Given the description of an element on the screen output the (x, y) to click on. 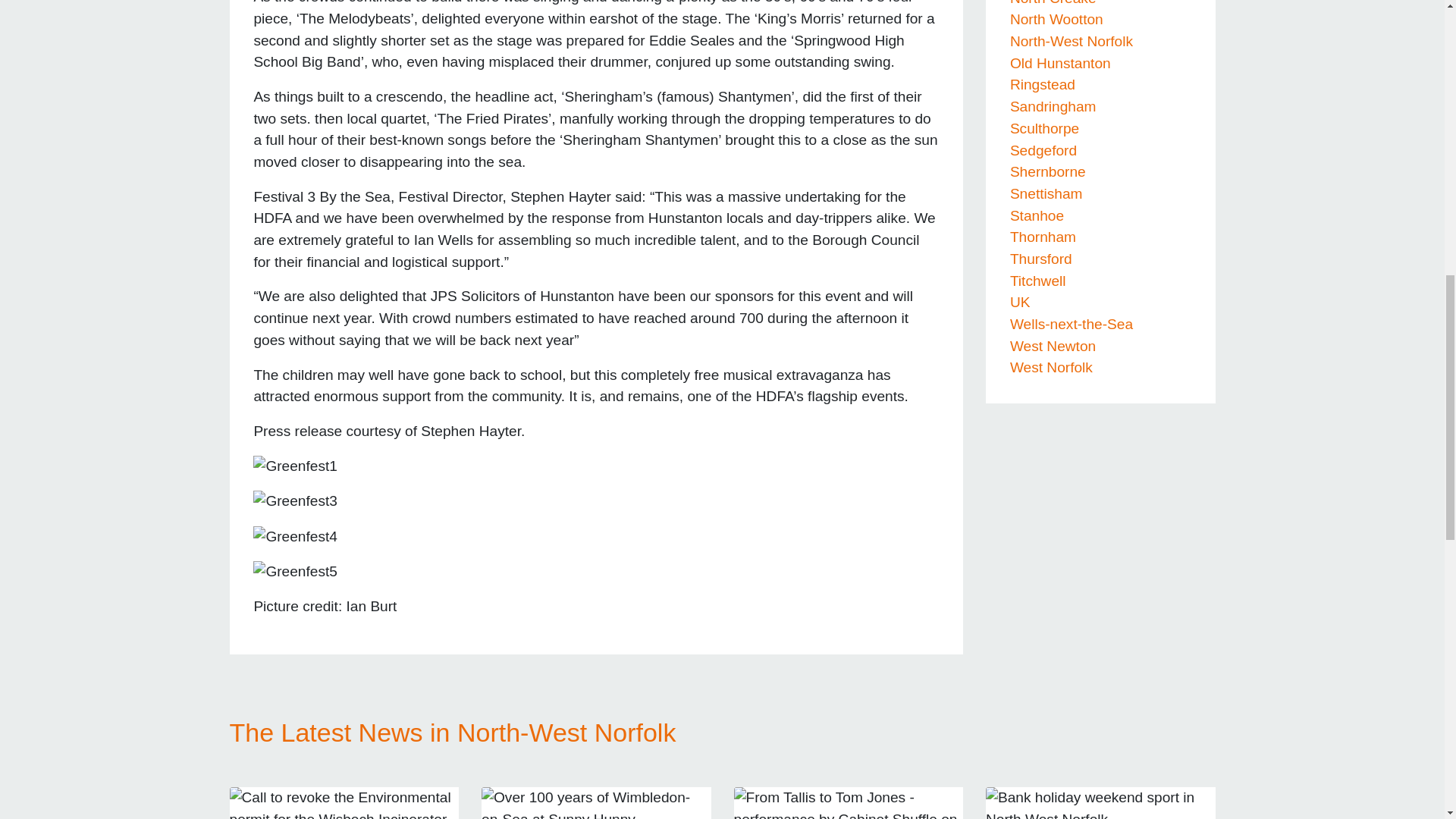
Greenfest3 (295, 501)
North Creake (1053, 2)
Greenfest1 (295, 466)
Greenfest4 (295, 536)
North Wootton (1056, 19)
Greenfest5 (295, 572)
